Given the description of an element on the screen output the (x, y) to click on. 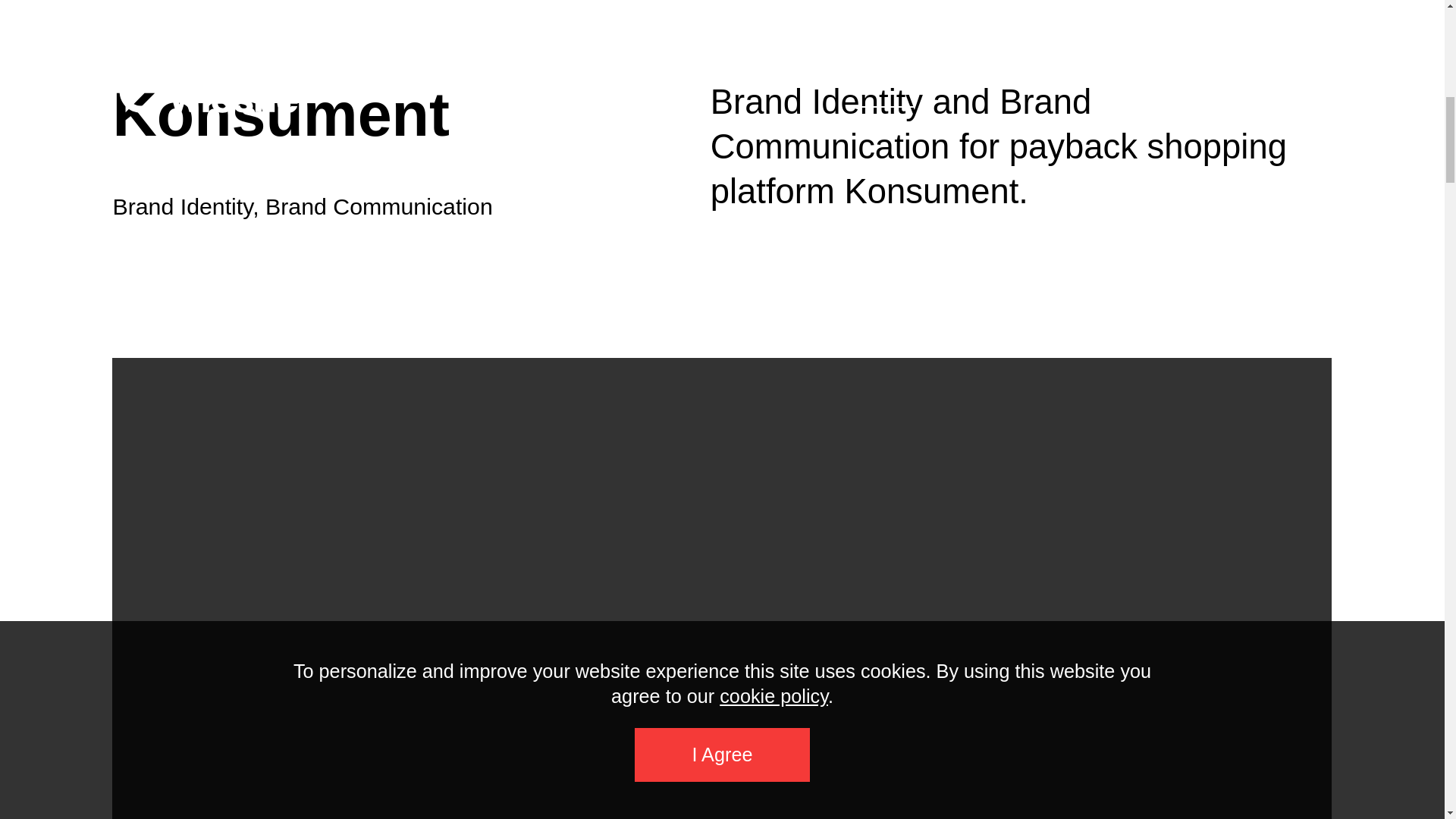
Hummel (124, 779)
